Given the description of an element on the screen output the (x, y) to click on. 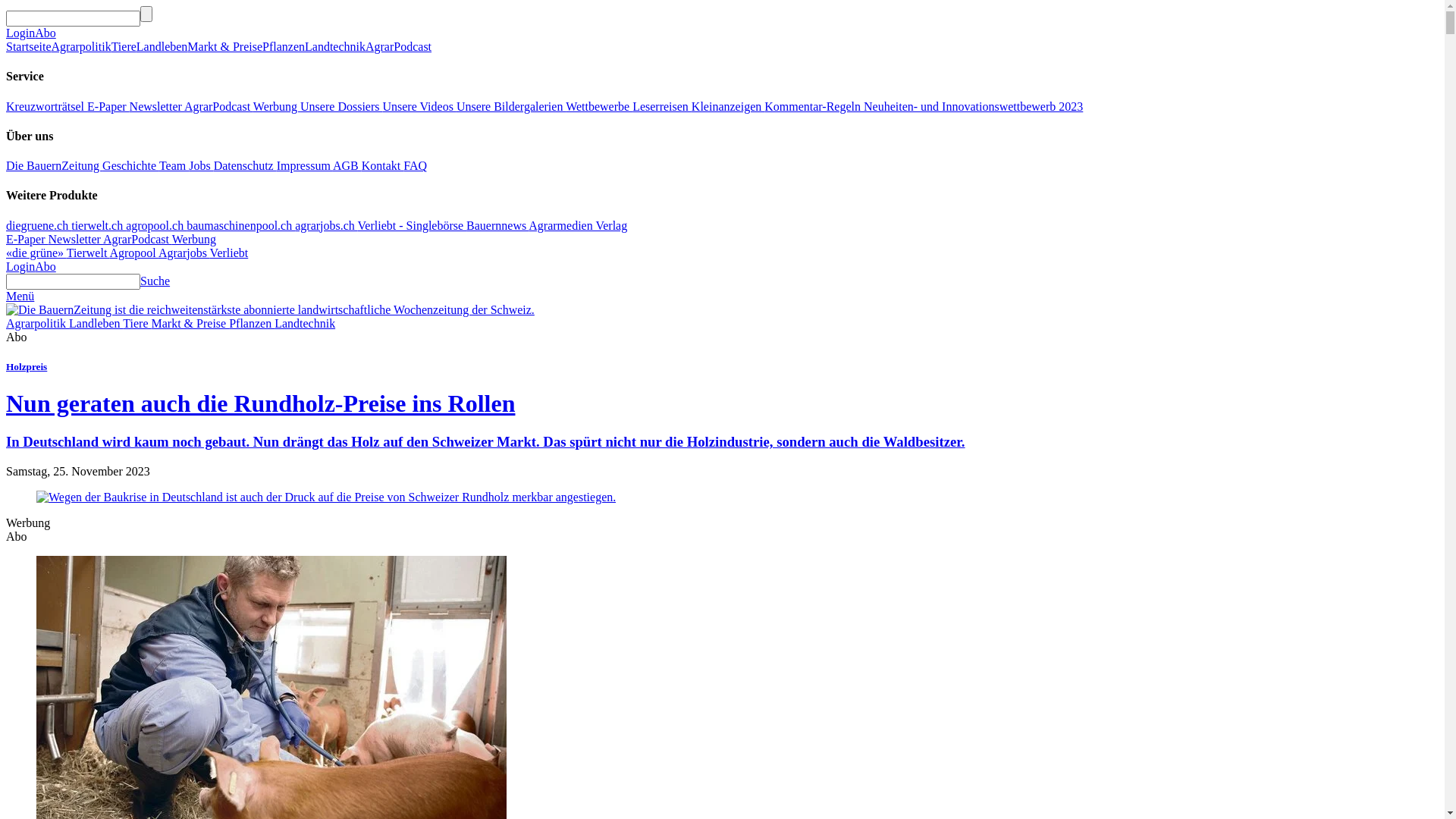
Jobs Element type: text (200, 165)
Die BauernZeitung Element type: text (54, 165)
agrarjobs.ch Element type: text (325, 225)
Newsletter Element type: text (75, 238)
Geschichte Element type: text (130, 165)
diegruene.ch Element type: text (38, 225)
Suche Element type: text (154, 280)
agropool.ch Element type: text (155, 225)
Kommentar-Regeln Element type: text (813, 106)
Unsere Videos Element type: text (418, 106)
Landtechnik Element type: text (334, 46)
Login Element type: text (20, 266)
Neuheiten- und Innovationswettbewerb 2023 Element type: text (972, 106)
Kleinanzeigen Element type: text (727, 106)
baumaschinenpool.ch Element type: text (240, 225)
Landleben Element type: text (162, 46)
Datenschutz Element type: text (244, 165)
Unsere Bildergalerien Element type: text (510, 106)
AGB Element type: text (346, 165)
Tierwelt Element type: text (87, 252)
Login Element type: text (20, 32)
E-Paper Element type: text (108, 106)
Markt & Preise Element type: text (224, 46)
Werbung Element type: text (276, 106)
Werbung Element type: text (194, 238)
Impressum Element type: text (304, 165)
Abo Element type: text (45, 32)
Bauernnews Element type: text (497, 225)
tierwelt.ch Element type: text (98, 225)
Kontakt Element type: text (382, 165)
Wettbewerbe Element type: text (598, 106)
Wegen der Baukrise i Element type: hover (325, 497)
Tiere Element type: text (136, 322)
E-Paper Element type: text (27, 238)
AgrarPodcast Element type: text (398, 46)
Agrarjobs Element type: text (184, 252)
Unsere Dossiers Element type: text (341, 106)
AgrarPodcast Element type: text (137, 238)
Landleben Element type: text (95, 322)
Agrarpolitik Element type: text (37, 322)
Team Element type: text (173, 165)
FAQ Element type: text (414, 165)
Agropool Element type: text (133, 252)
Agrarpolitik Element type: text (81, 46)
Abo Element type: text (45, 266)
Landtechnik Element type: text (304, 322)
Verliebt Element type: text (229, 252)
Tiere Element type: text (123, 46)
AgrarPodcast Element type: text (218, 106)
Pflanzen Element type: text (251, 322)
Pflanzen Element type: text (283, 46)
Leserreisen Element type: text (661, 106)
Markt & Preise Element type: text (190, 322)
Startseite Element type: text (28, 46)
Newsletter Element type: text (156, 106)
Agrarmedien Verlag Element type: text (577, 225)
